Given the description of an element on the screen output the (x, y) to click on. 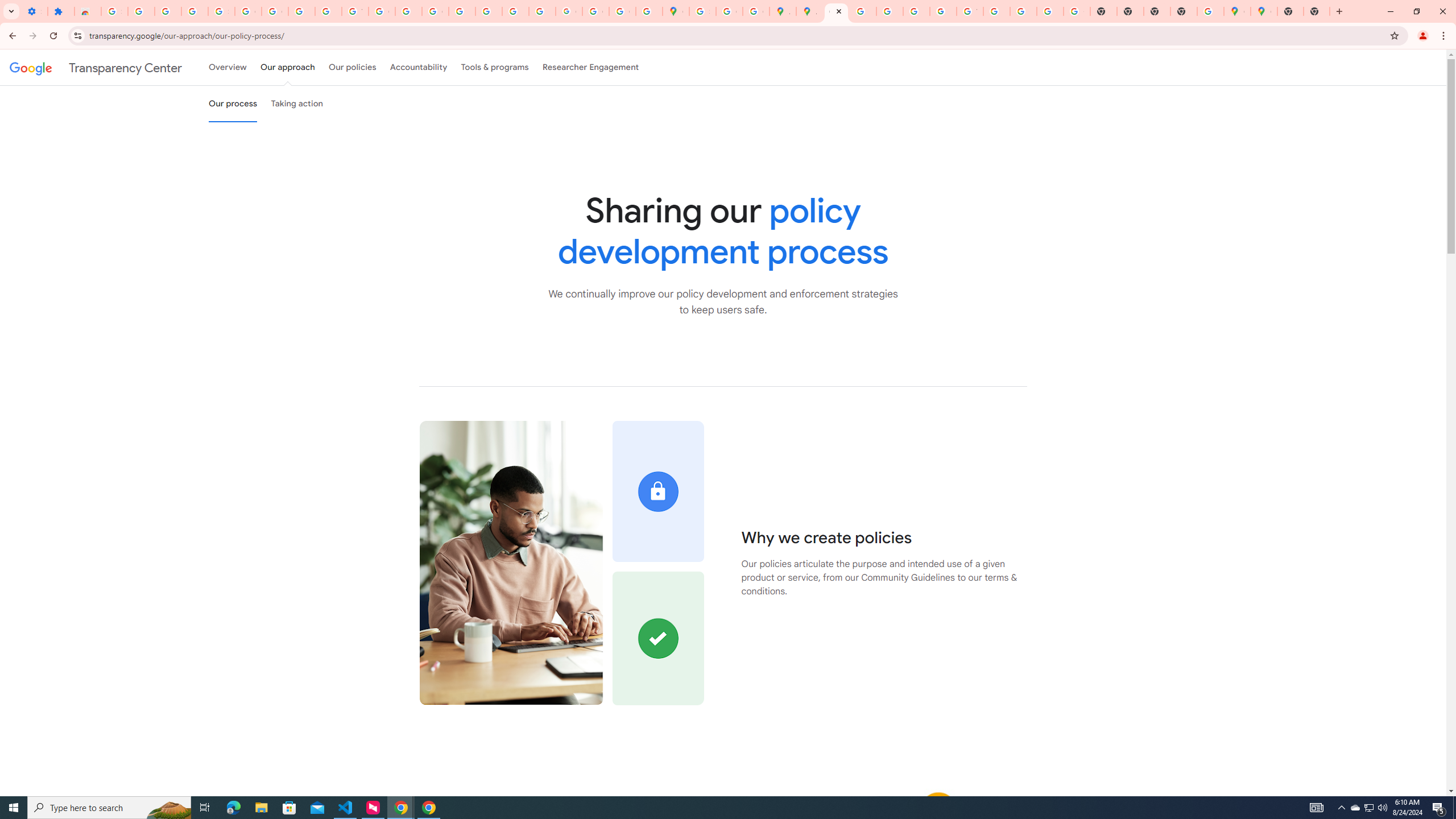
Privacy Help Center - Policies Help (462, 11)
Taking action (296, 103)
Tools & programs (494, 67)
Google Account Help (275, 11)
Learn how to find your photos - Google Photos Help (167, 11)
Our policies (351, 67)
